Given the description of an element on the screen output the (x, y) to click on. 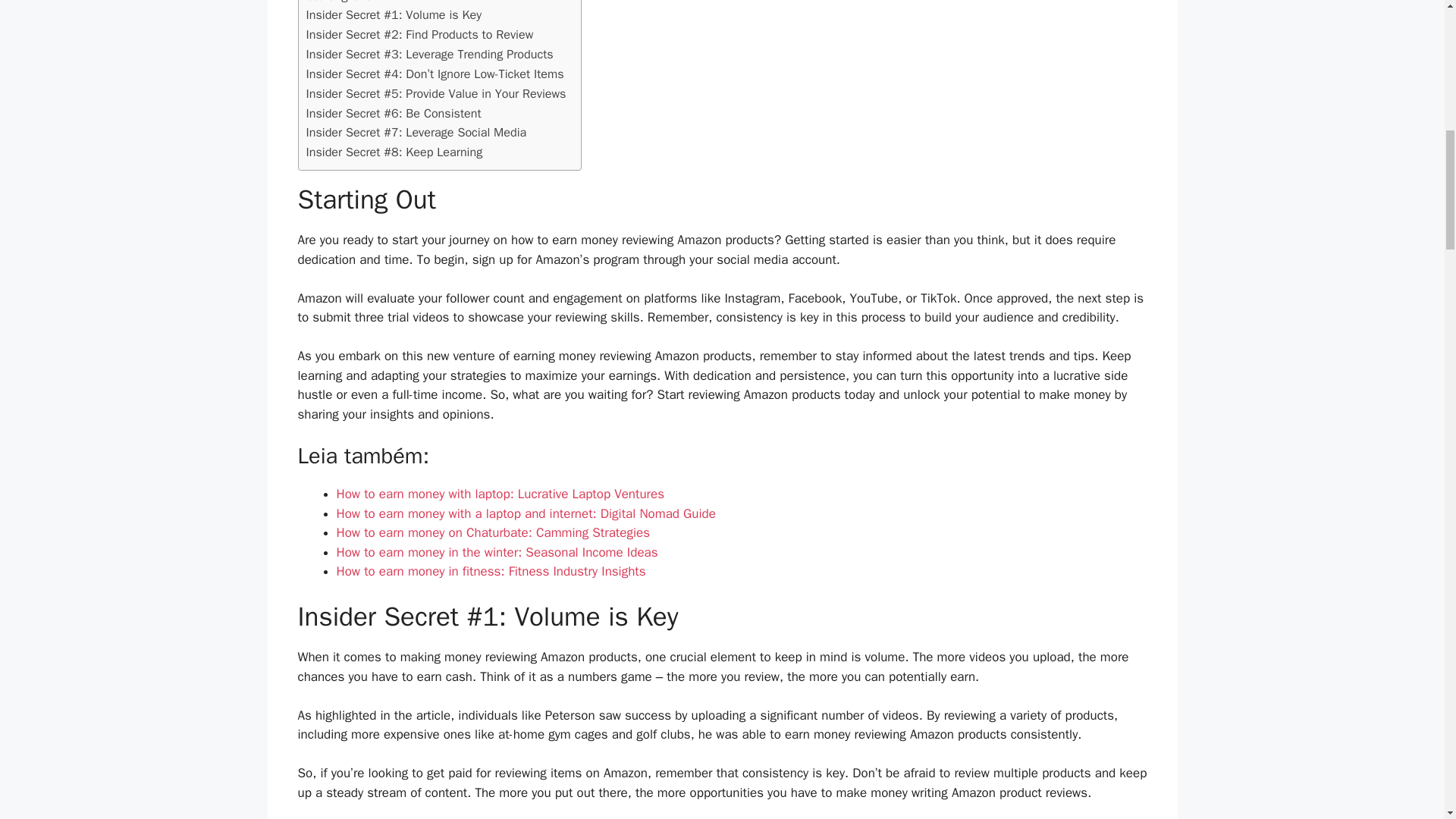
Starting Out (337, 2)
